Given the description of an element on the screen output the (x, y) to click on. 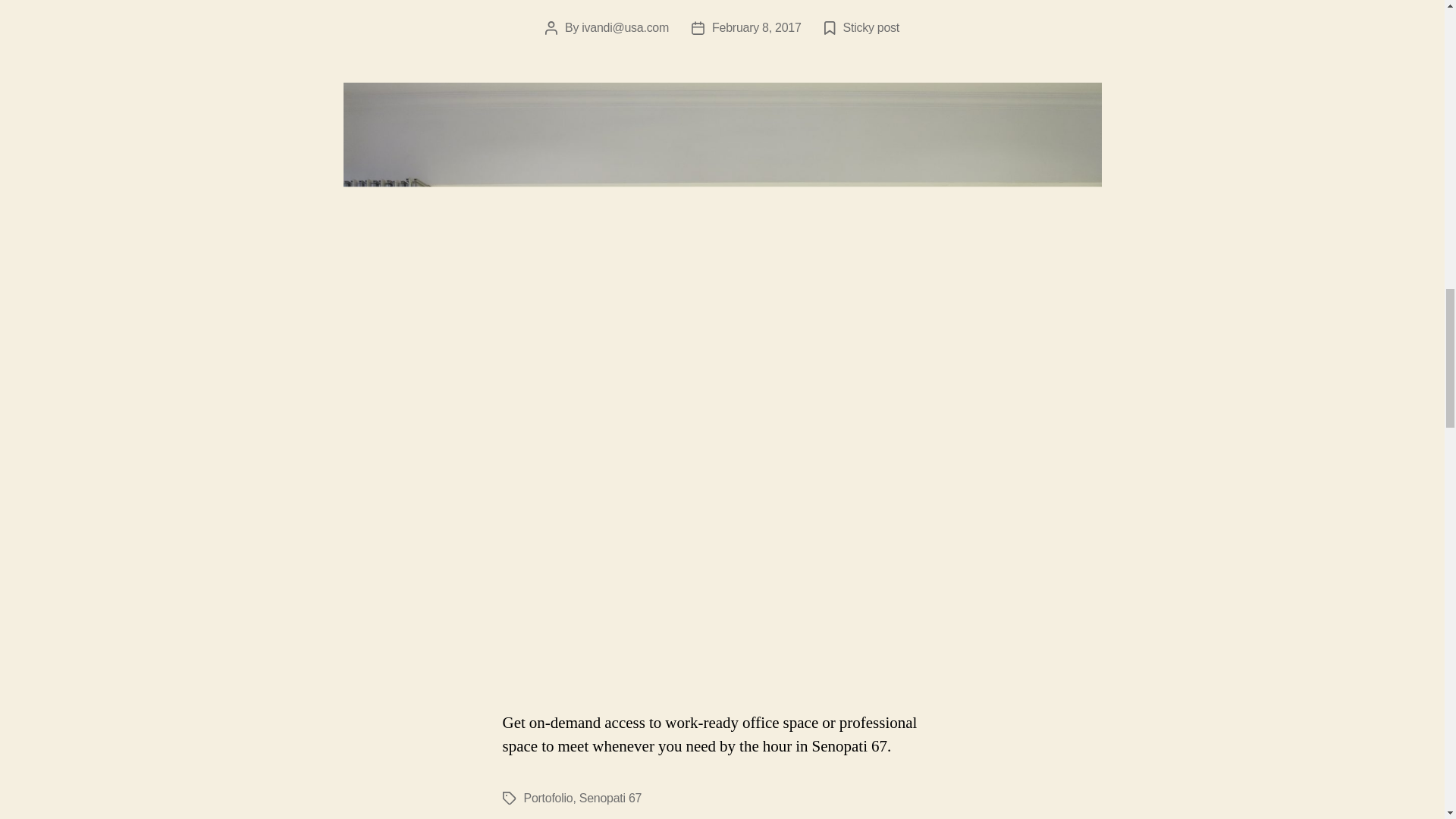
February 8, 2017 (756, 27)
Portofolio (547, 797)
Senopati 67 (610, 797)
